Given the description of an element on the screen output the (x, y) to click on. 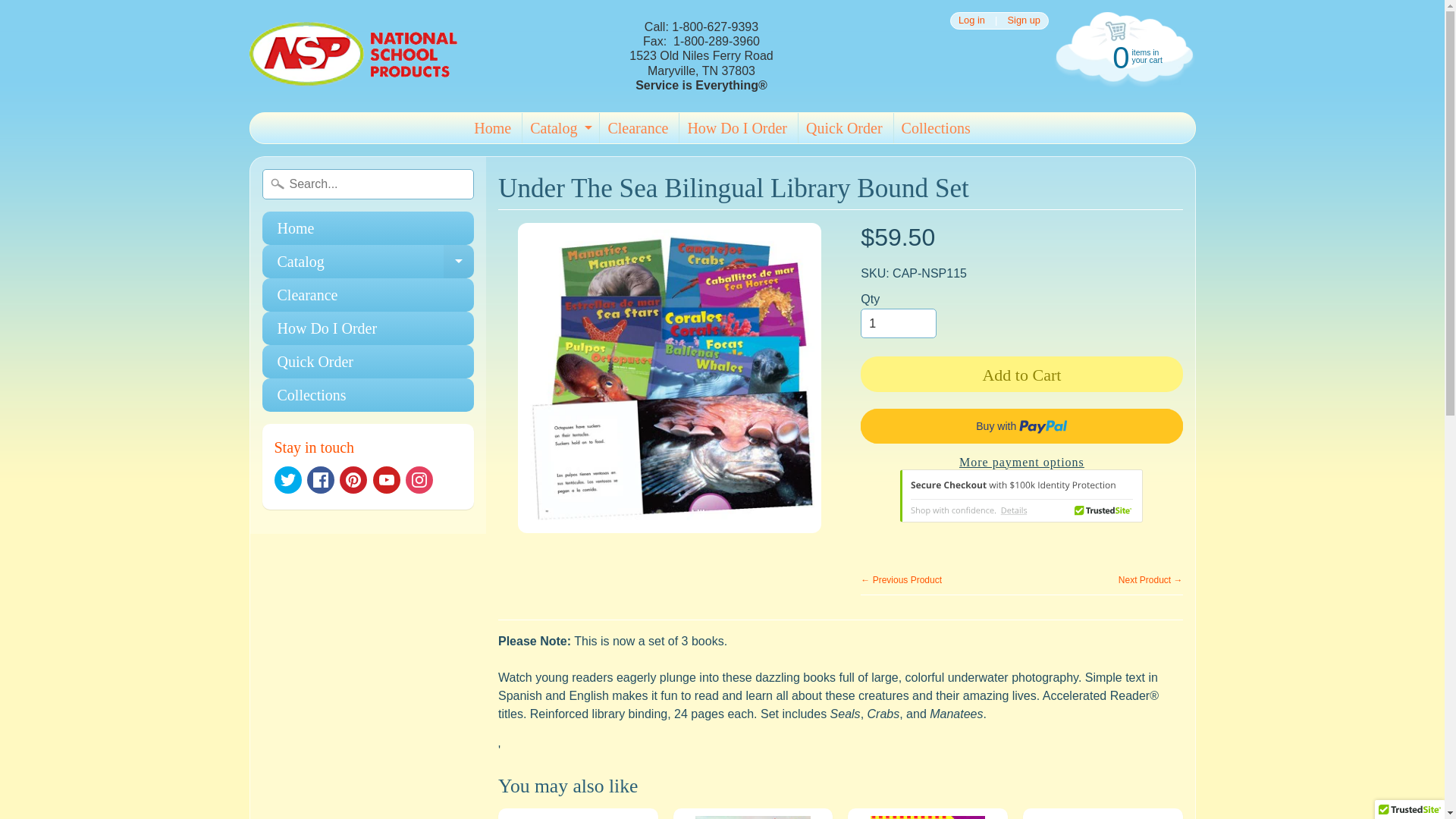
Quick Order (368, 261)
Sign up (368, 361)
How Do I Order (1024, 20)
1 (368, 328)
Abuela Paperback Book (898, 323)
Clearance (752, 813)
Expand child menu (637, 128)
Collections (459, 261)
Home (368, 394)
Facebook (368, 227)
Youtube (320, 479)
National School Products (386, 479)
Add to Cart (352, 56)
Pinterest (1021, 373)
